Given the description of an element on the screen output the (x, y) to click on. 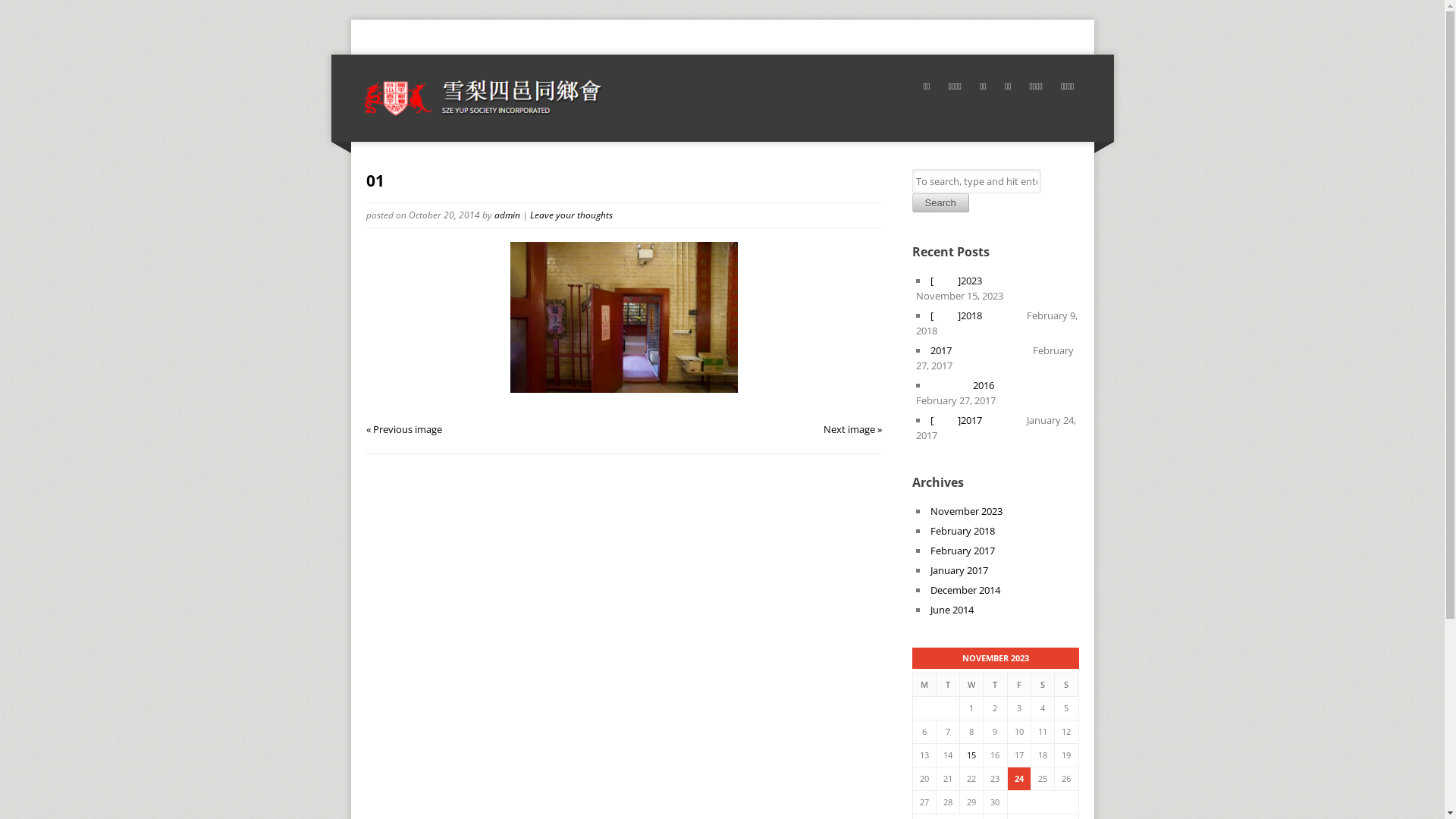
Leave your thoughts Element type: text (570, 213)
February 2018 Element type: text (961, 530)
01 Element type: text (374, 180)
January 2017 Element type: text (958, 570)
June 2014 Element type: text (950, 609)
admin Element type: text (507, 213)
February 2017 Element type: text (961, 550)
15 Element type: text (970, 754)
Search Element type: text (939, 202)
December 2014 Element type: text (964, 589)
November 2023 Element type: text (965, 510)
